Given the description of an element on the screen output the (x, y) to click on. 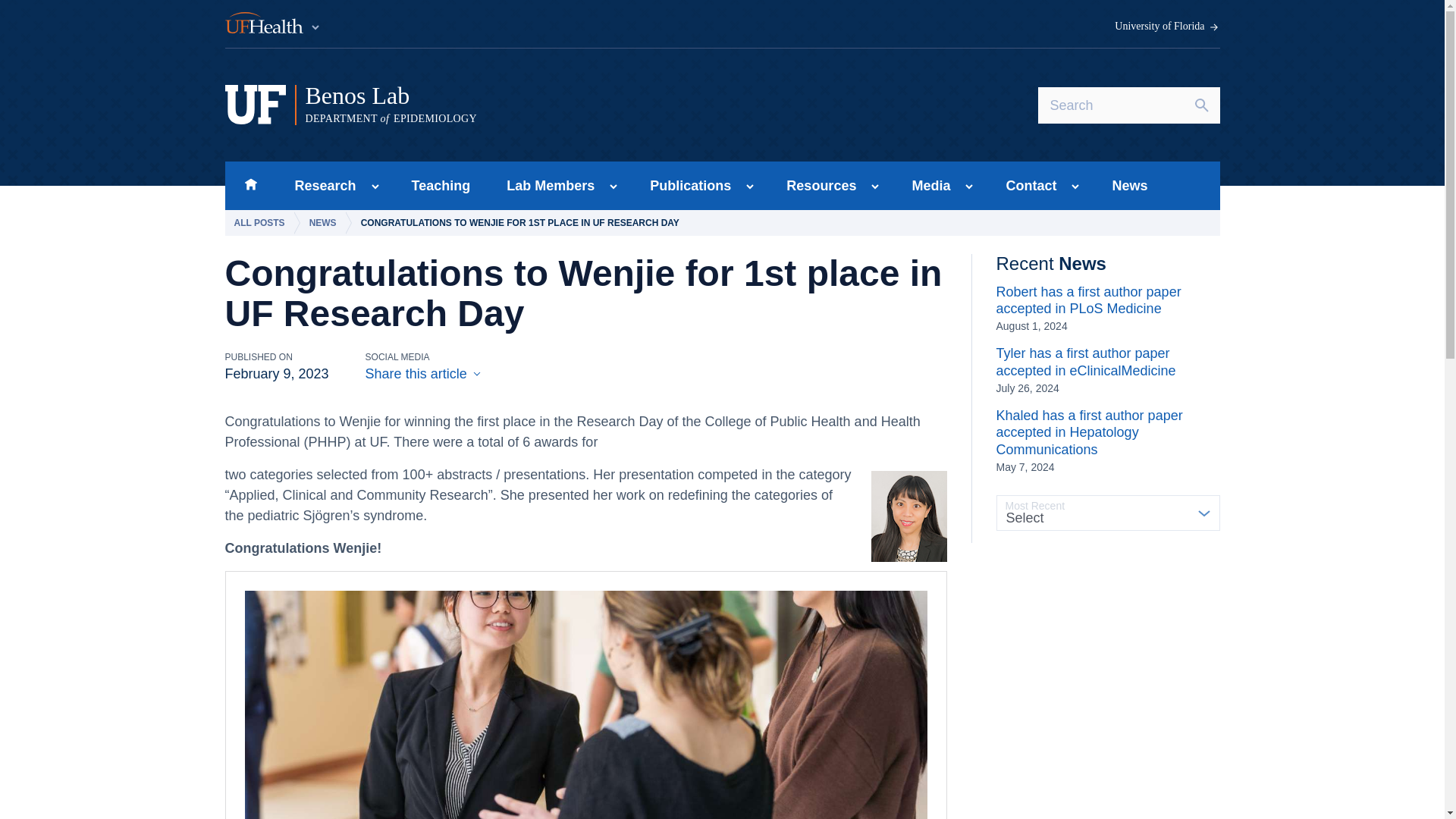
Home (250, 185)
UF Health (272, 24)
University of Florida (1167, 26)
Publications (685, 185)
Lab Members (545, 185)
Teaching (441, 185)
Research (320, 185)
